Given the description of an element on the screen output the (x, y) to click on. 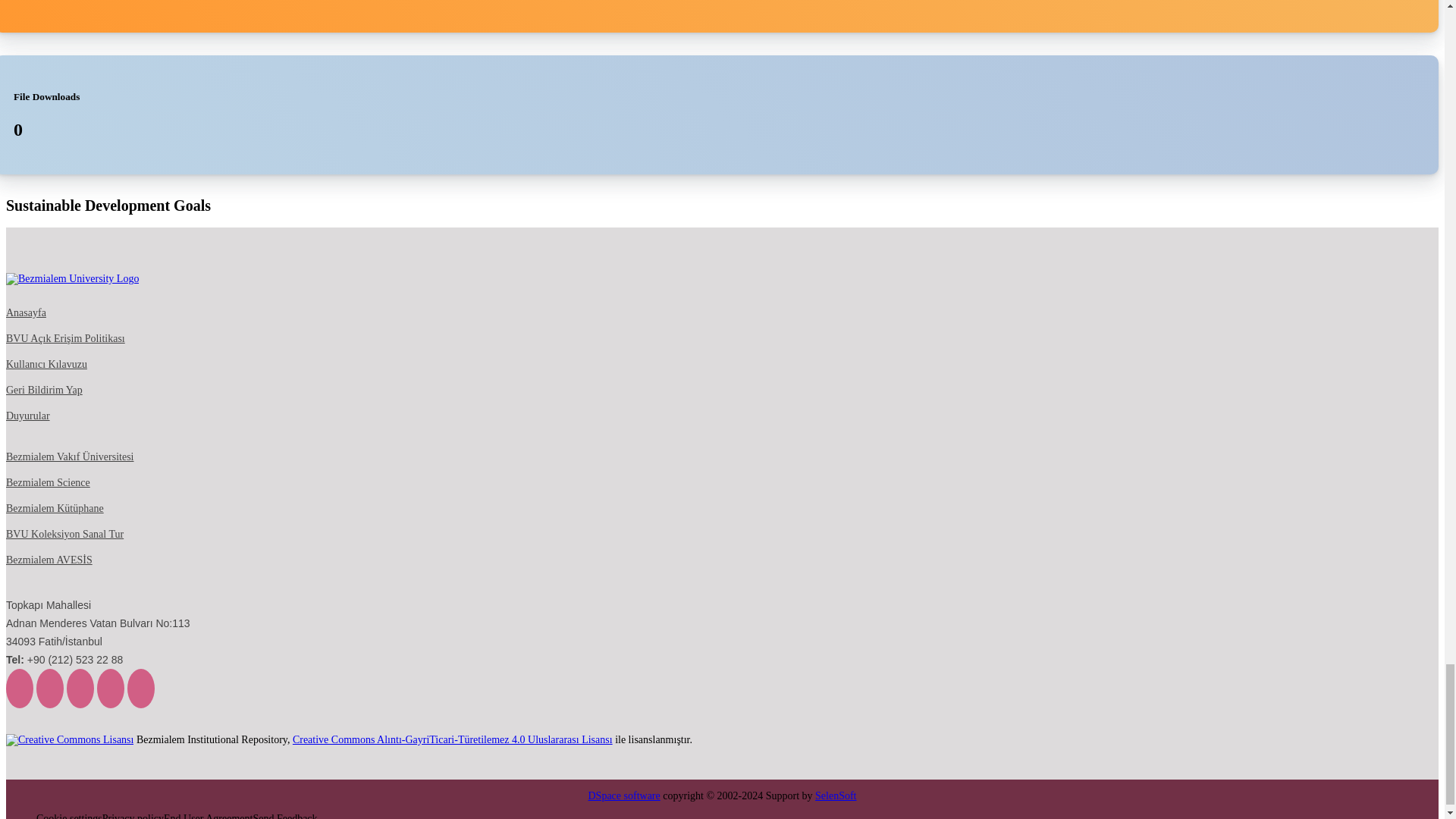
Bezmialem Science (47, 482)
Duyurular (27, 416)
SelenSoft (835, 795)
Geri Bildirim Yap (43, 389)
DSpace software (624, 795)
BVU Koleksiyon Sanal Tur (64, 534)
Anasayfa (25, 312)
